Given the description of an element on the screen output the (x, y) to click on. 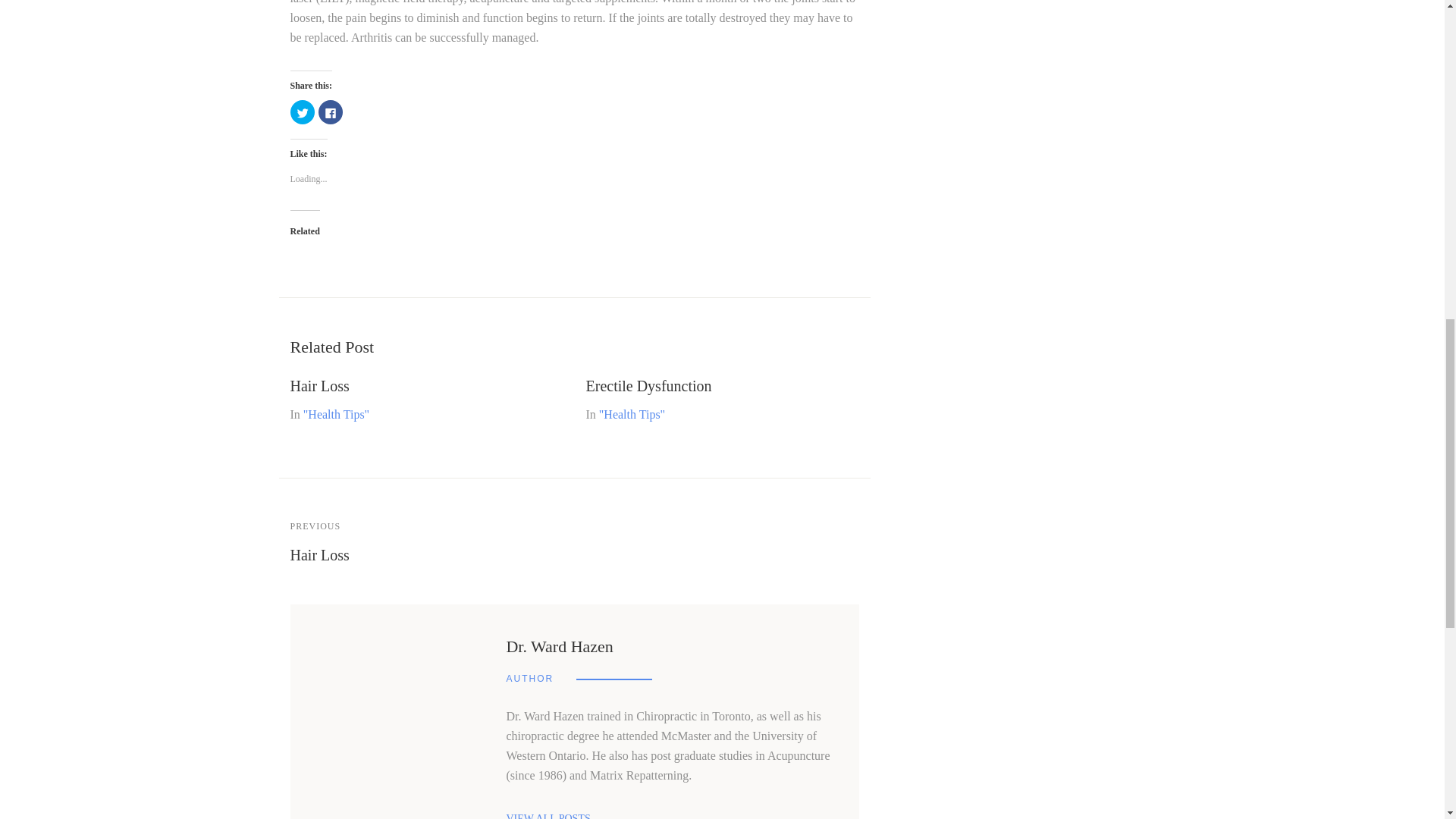
View all posts in Health Tips (631, 413)
Erectile Dysfunction (648, 385)
"Health Tips" (631, 413)
Hair Loss (319, 555)
View all posts in Health Tips (335, 413)
Click to share on Facebook (330, 111)
Click to share on Twitter (301, 111)
Hair Loss (319, 385)
"Health Tips" (335, 413)
VIEW ALL POSTS (547, 816)
